Given the description of an element on the screen output the (x, y) to click on. 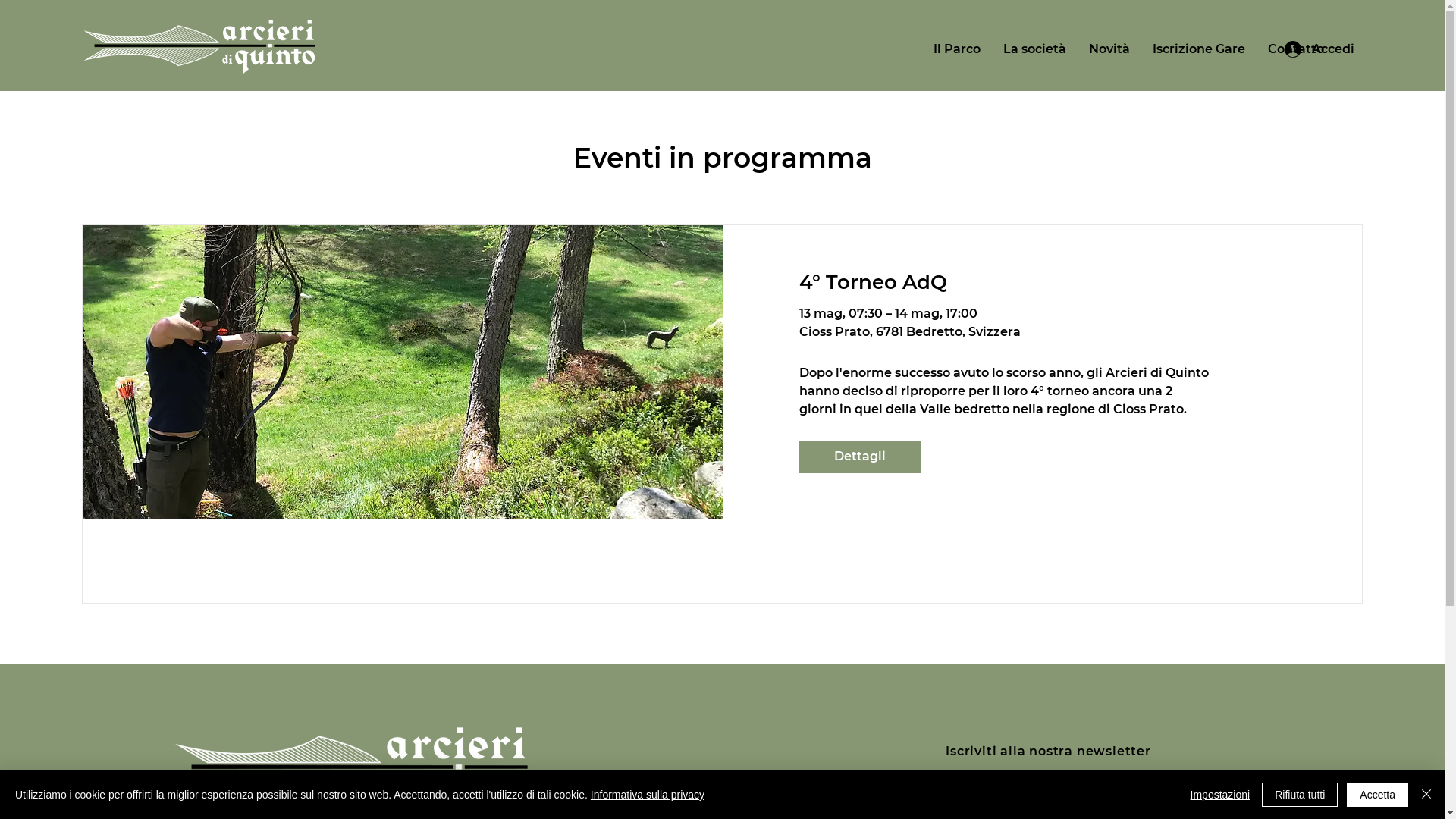
Iscrizione Gare Element type: text (1198, 49)
Il Parco Element type: text (956, 49)
Dettagli Element type: text (859, 457)
Accedi Element type: text (1319, 49)
Contatto Element type: text (1295, 49)
Rifiuta tutti Element type: text (1299, 794)
Informativa sulla privacy Element type: text (647, 794)
Accetta Element type: text (1377, 794)
